Given the description of an element on the screen output the (x, y) to click on. 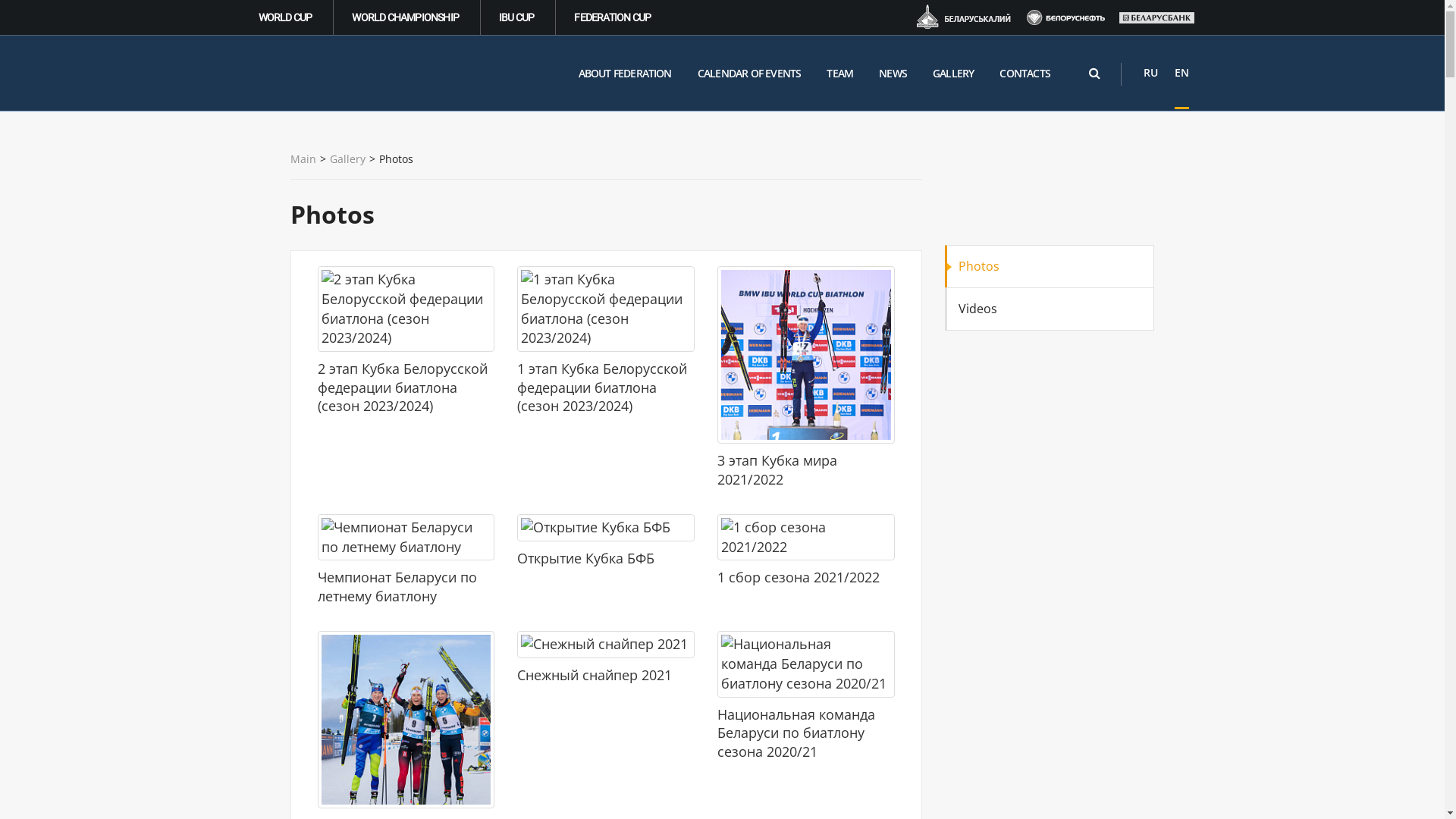
Videos Element type: text (1050, 308)
CALENDAR OF EVENTS Element type: text (749, 73)
GALLERY Element type: text (952, 73)
Photos Element type: text (1050, 265)
EN Element type: text (1180, 72)
WORLD CHAMPIONSHIP Element type: text (406, 17)
Gallery Element type: text (346, 158)
CONTACTS Element type: text (1024, 73)
TEAM Element type: text (839, 73)
RU Element type: text (1150, 72)
ABOUT FEDERATION Element type: text (624, 73)
NEWS Element type: text (892, 73)
FEDERATION CUP Element type: text (613, 17)
Main Element type: text (302, 159)
Belaruskali Element type: hover (962, 17)
Belorusneft Element type: hover (1065, 17)
WORLD CUP Element type: text (286, 17)
Belarusbank Element type: hover (1156, 17)
IBU CUP Element type: text (517, 17)
